Given the description of an element on the screen output the (x, y) to click on. 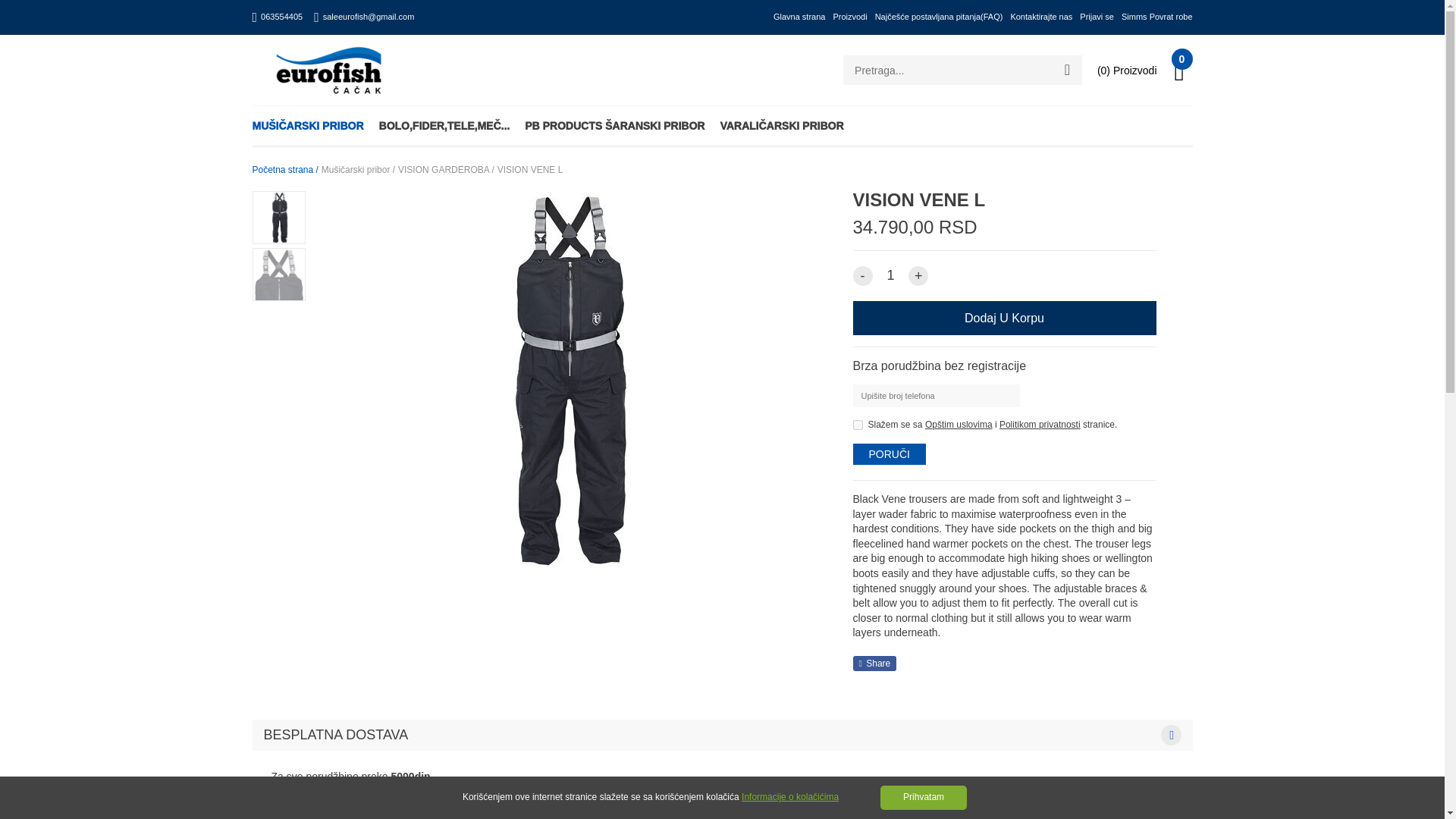
Kontaktirajte nas (1040, 17)
Simms Povrat robe (1156, 17)
Prijavi se (1096, 17)
1 (856, 424)
Prijavi se (1096, 17)
Simms Povrat robe (1156, 17)
1 (890, 275)
Proizvodi (849, 17)
Kontaktirajte nas (1040, 17)
Proizvodi (849, 17)
063554405 (276, 17)
Glavna strana (799, 17)
Glavna strana (799, 17)
